Given the description of an element on the screen output the (x, y) to click on. 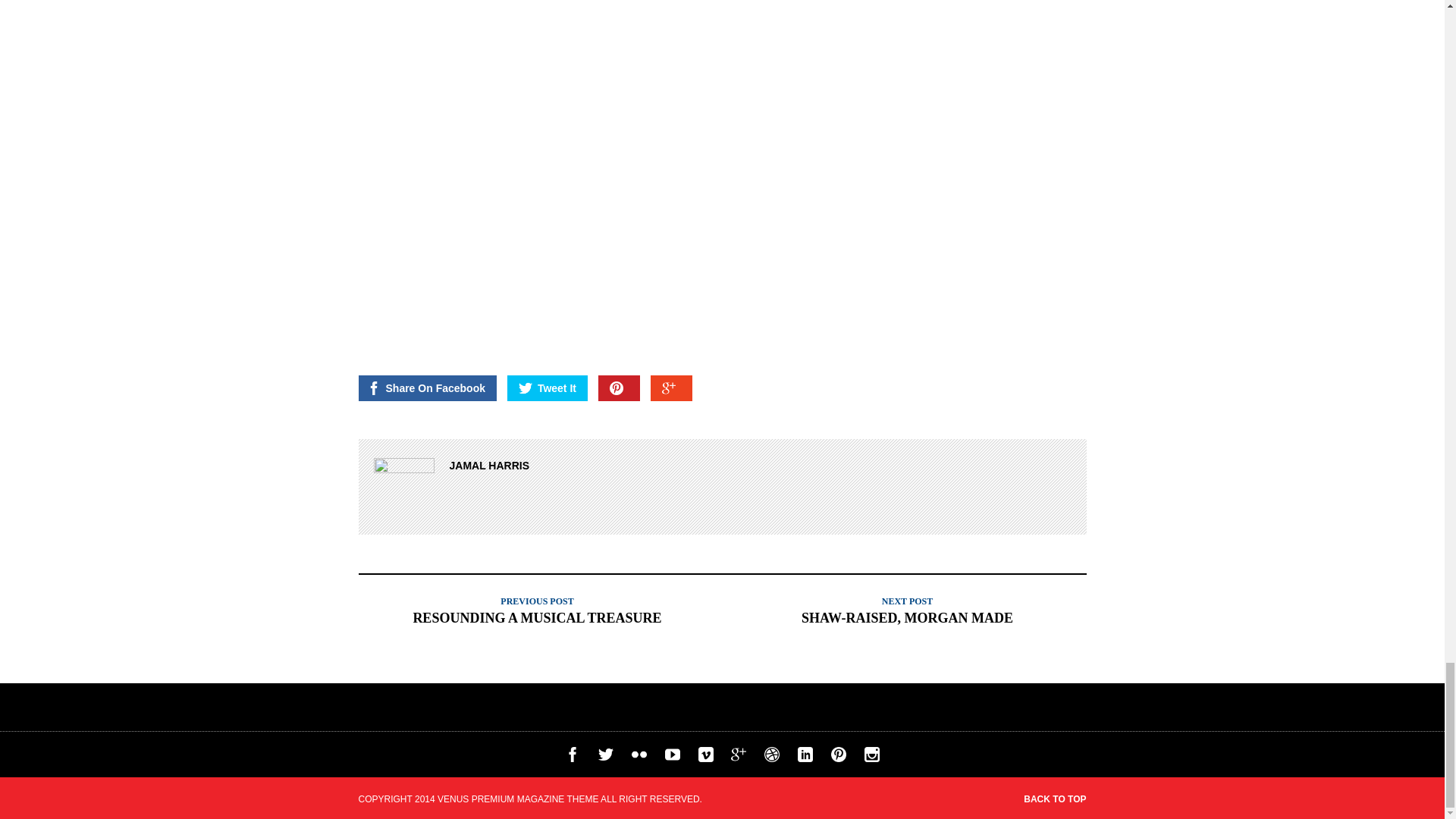
Instagram (871, 758)
Share On Facebook (427, 388)
RESOUNDING A MUSICAL TREASURE (536, 617)
Tweet It (547, 388)
Youtube (672, 758)
Dribbble (771, 758)
Linkedin (804, 758)
Flickr (638, 758)
Vimeo (705, 758)
Pinterest (838, 758)
SHAW-RAISED, MORGAN MADE (907, 617)
